Given the description of an element on the screen output the (x, y) to click on. 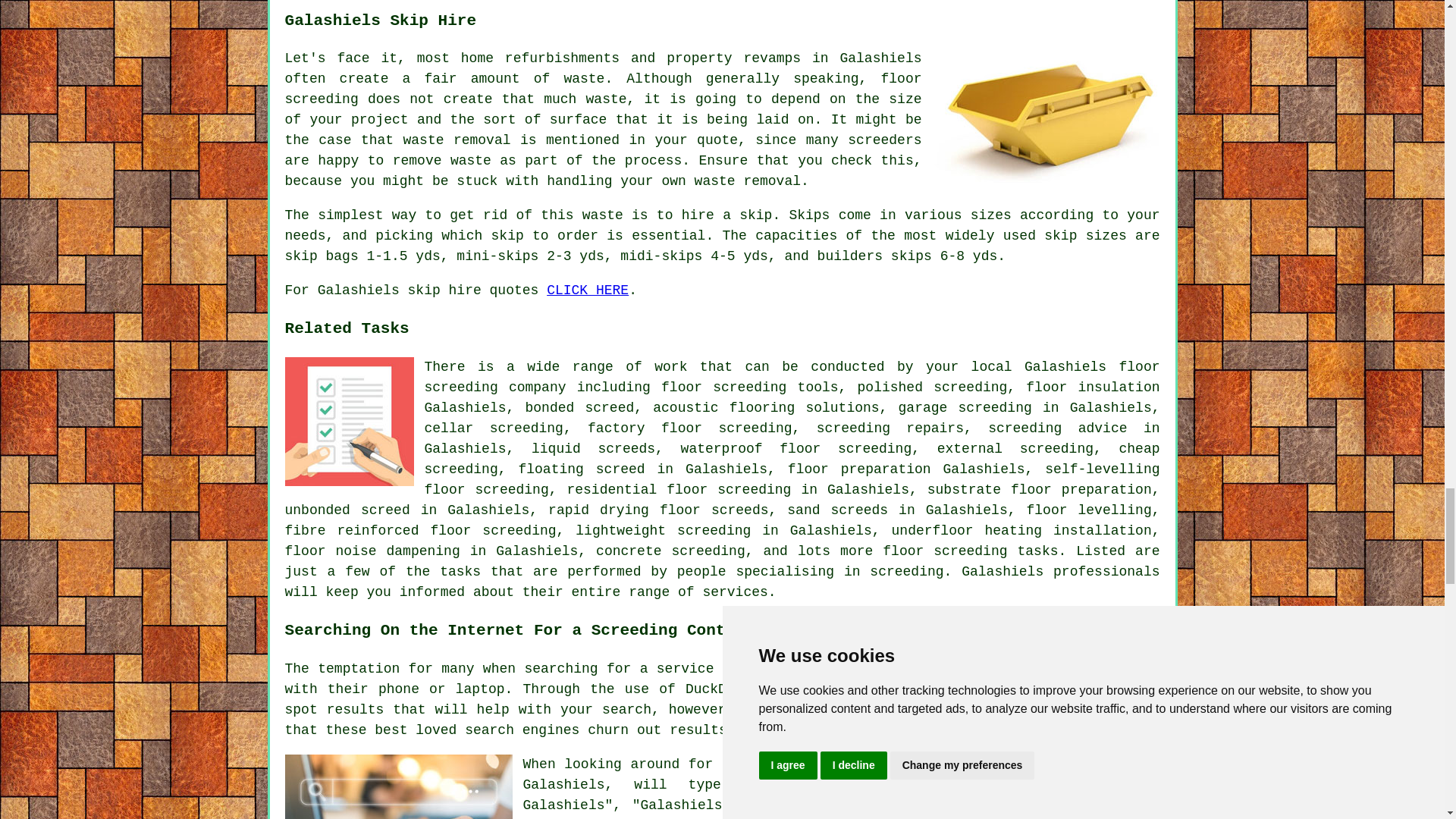
Skip Hire Galashiels (1046, 123)
Search Engine Results Screeding Galashiels (398, 786)
Screeding Related Tasks Galashiels (349, 421)
floor screeding (723, 387)
